Given the description of an element on the screen output the (x, y) to click on. 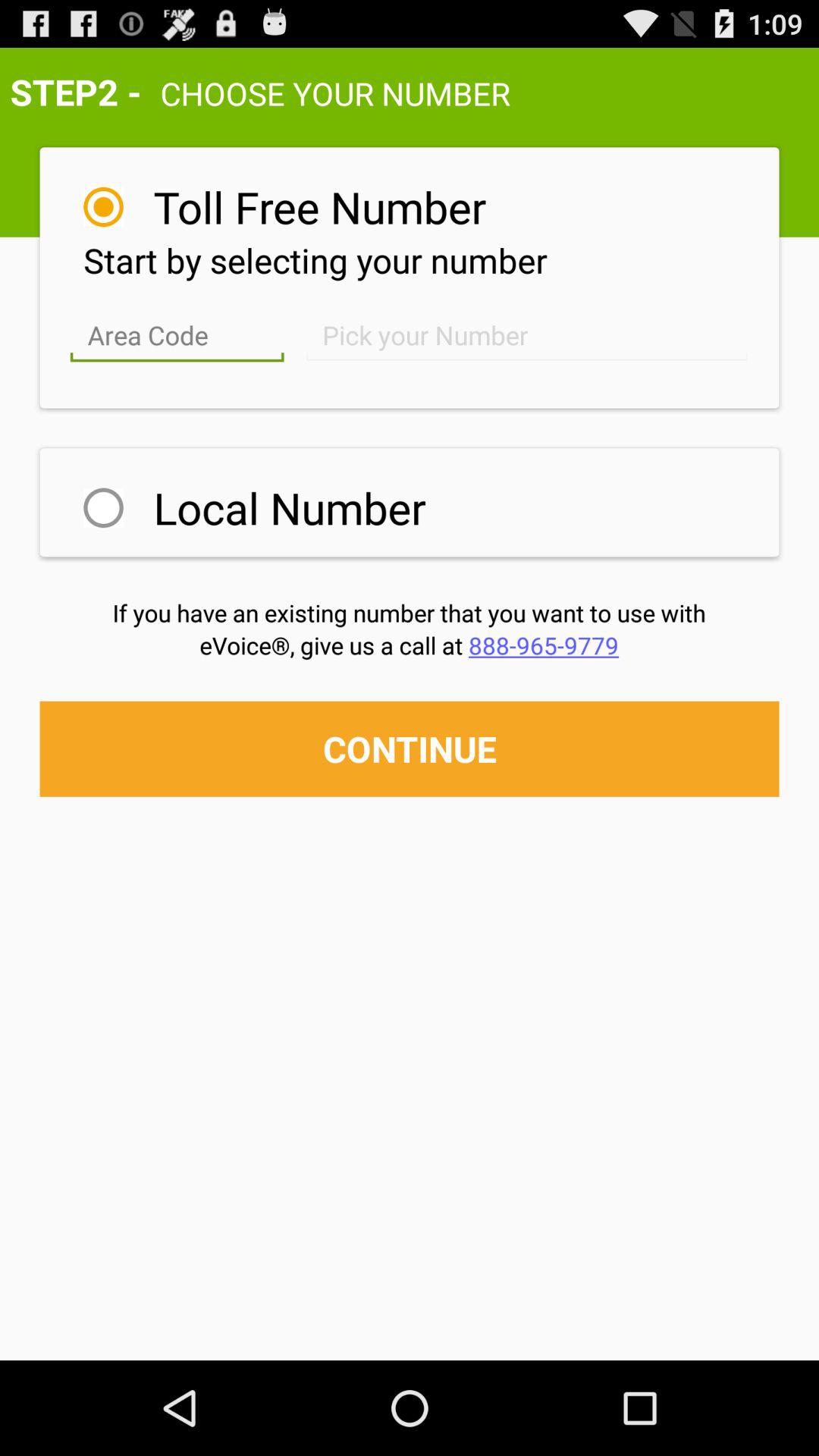
choose the item below the evoice give us (409, 748)
